Given the description of an element on the screen output the (x, y) to click on. 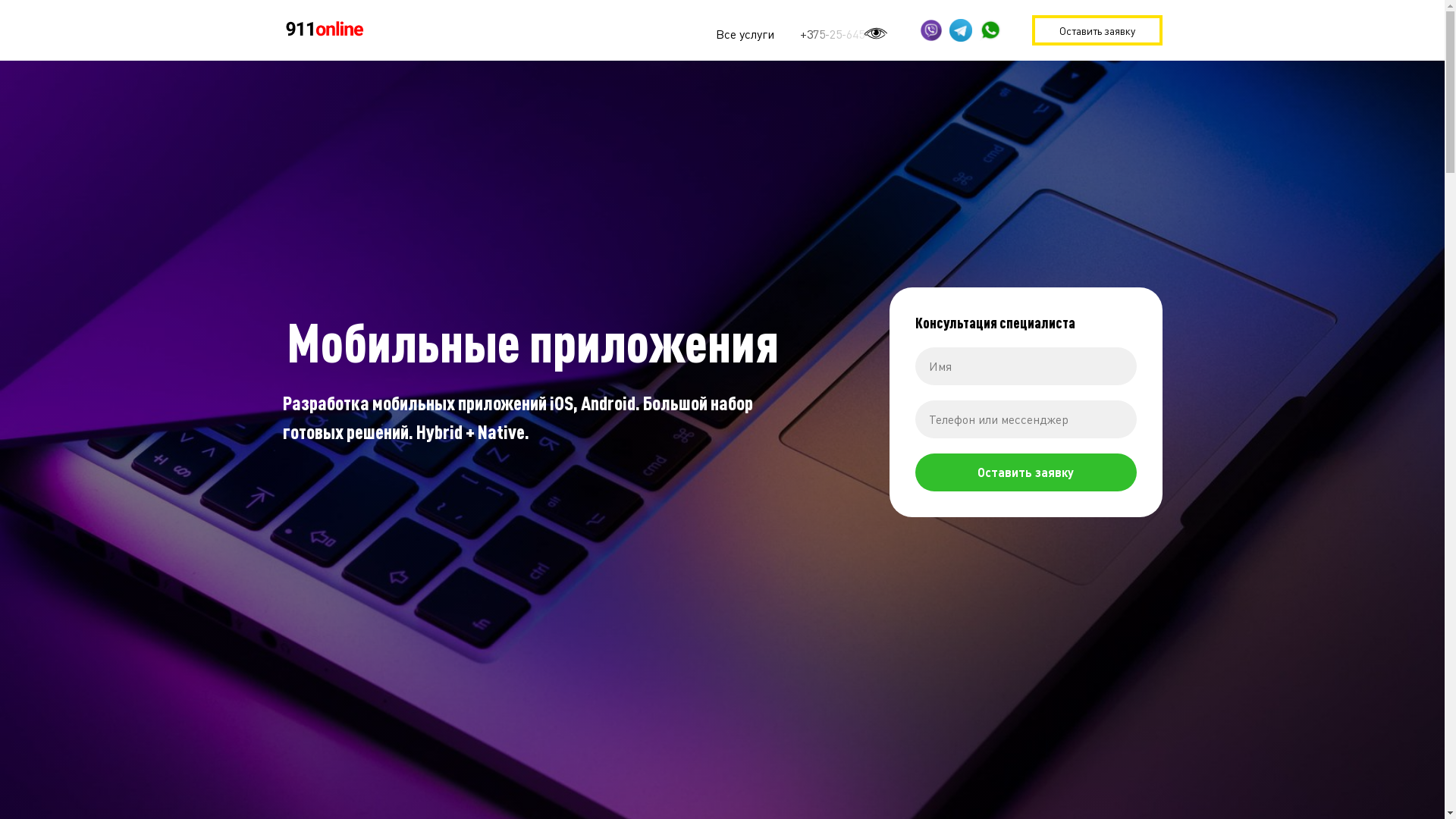
+375-25-645 Element type: text (831, 33)
